Given the description of an element on the screen output the (x, y) to click on. 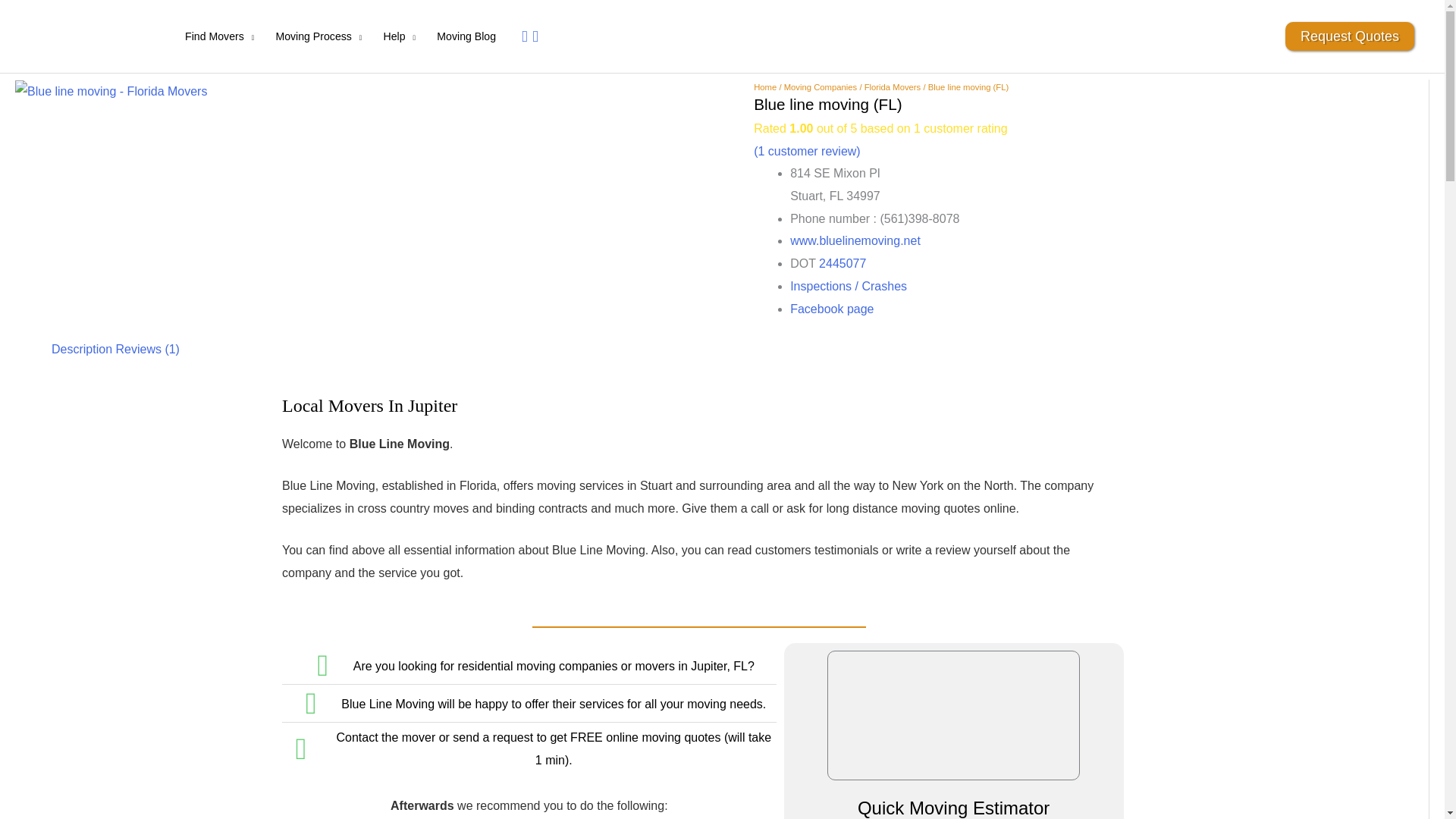
Blue line moving FL movingb.com (110, 90)
Request Quotes (1349, 36)
Moving Process (318, 36)
Find Movers (219, 36)
Help (399, 36)
Moving Blog (466, 36)
Search (532, 36)
